Given the description of an element on the screen output the (x, y) to click on. 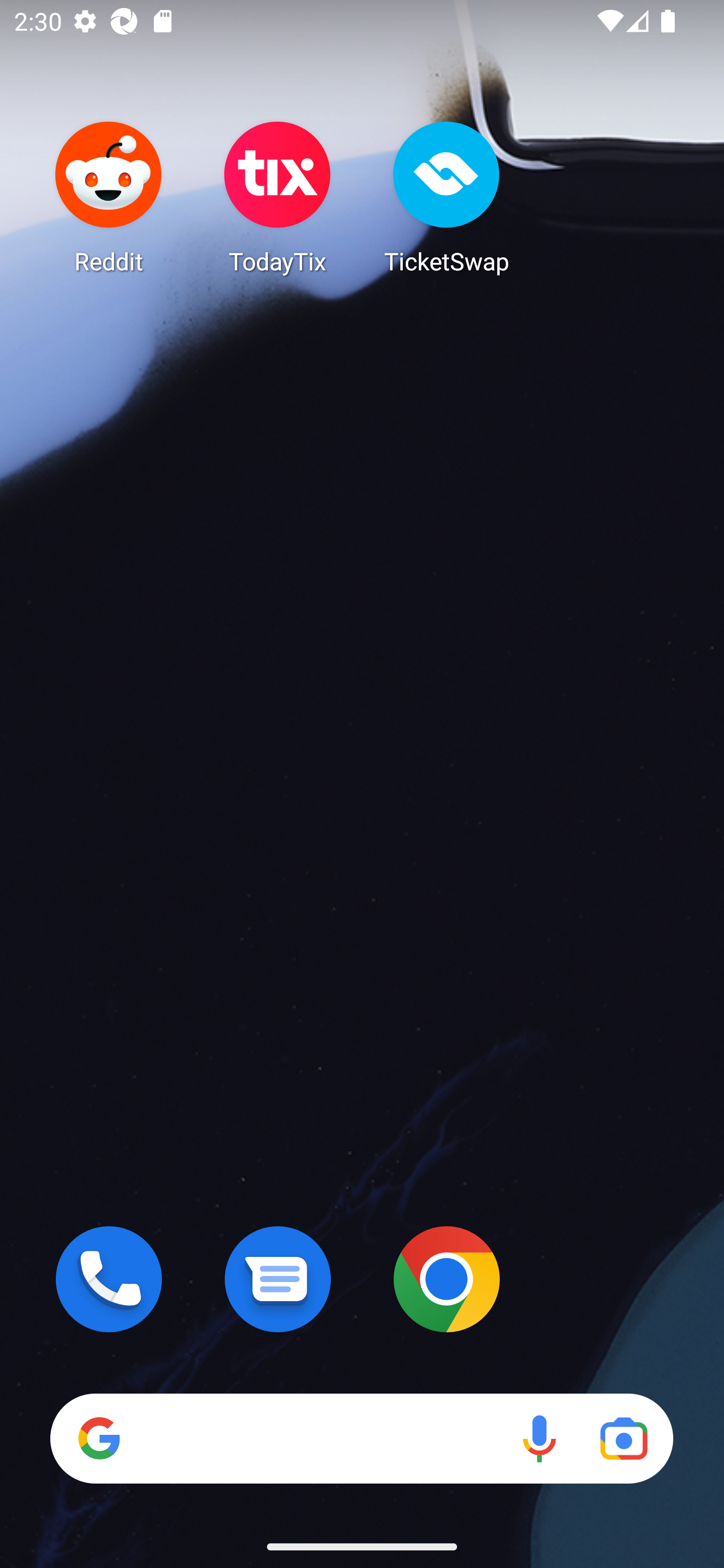
Reddit (108, 196)
TodayTix (277, 196)
TicketSwap (445, 196)
Phone (108, 1279)
Messages (277, 1279)
Chrome (446, 1279)
Voice search (539, 1438)
Google Lens (623, 1438)
